Given the description of an element on the screen output the (x, y) to click on. 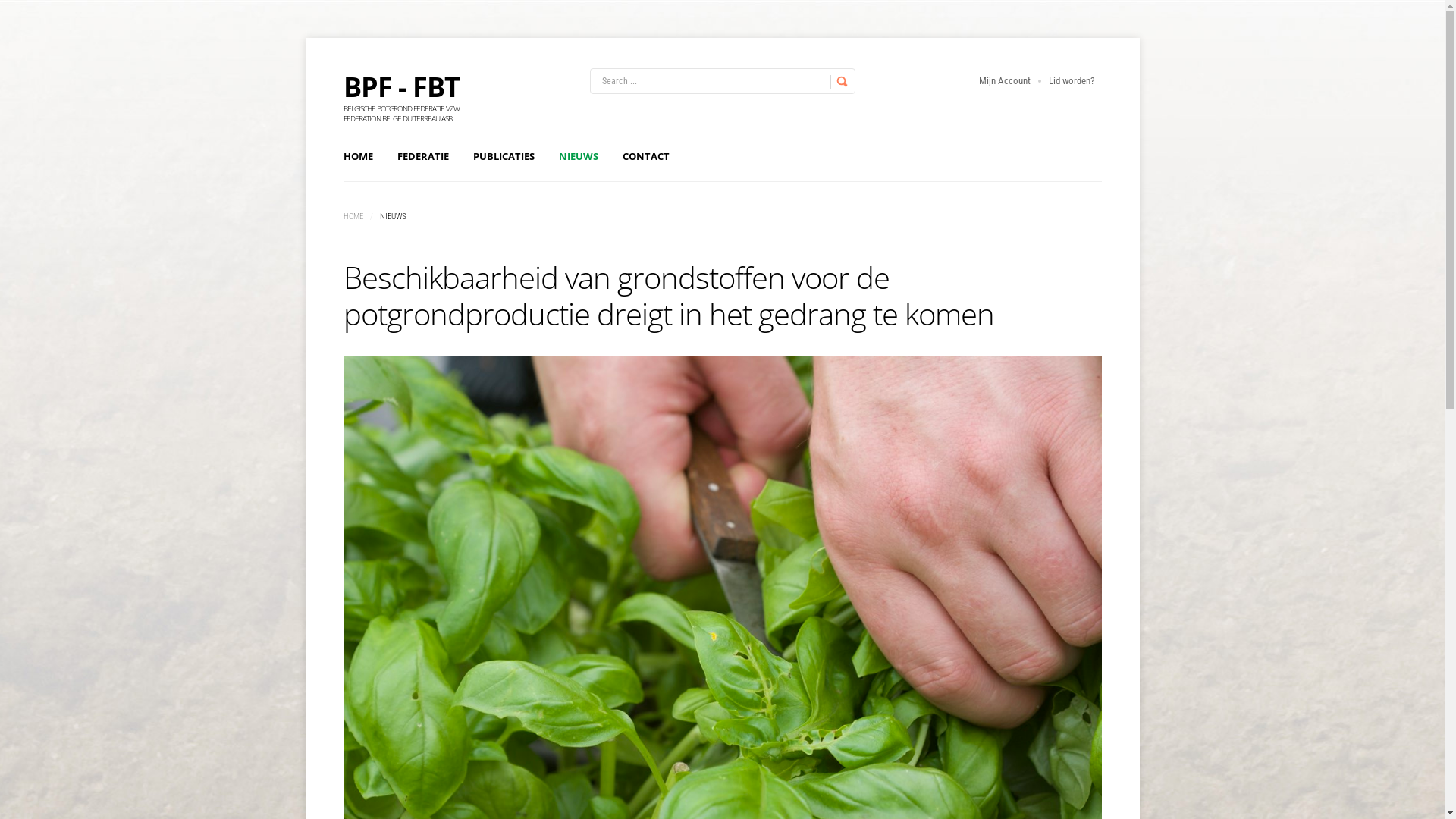
HOME Element type: text (352, 216)
Log in Element type: text (673, 273)
NIEUWS Element type: text (577, 155)
Lid worden? Element type: text (1070, 80)
PUBLICATIES Element type: text (503, 155)
FEDERATIE Element type: text (423, 155)
HOME Element type: text (357, 155)
Mijn Account Element type: text (1003, 80)
CONTACT Element type: text (644, 155)
